Given the description of an element on the screen output the (x, y) to click on. 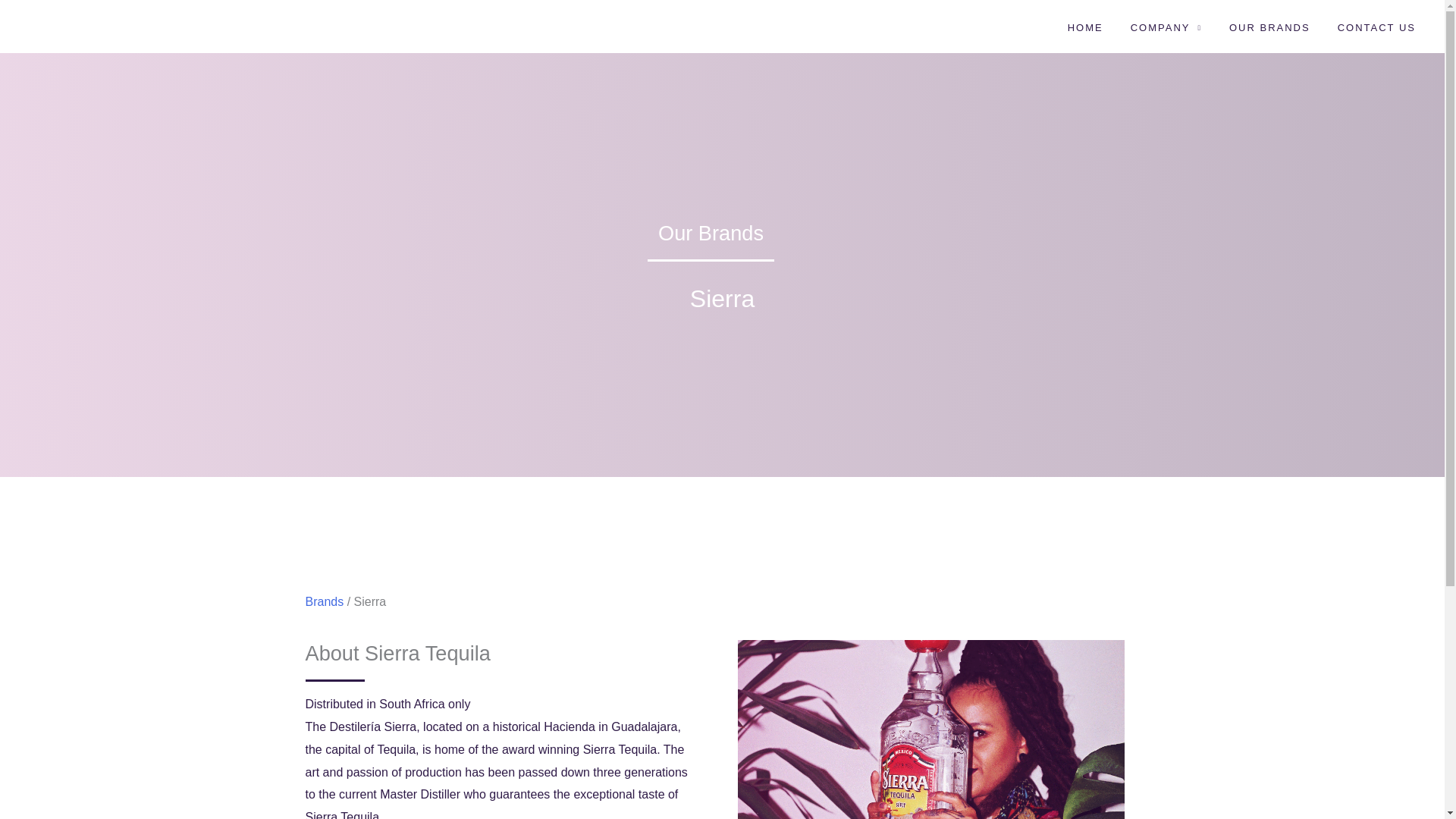
OUR BRANDS (1269, 26)
Brands (323, 601)
CONTACT US (1376, 26)
COMPANY (1165, 26)
HOME (1085, 26)
